Given the description of an element on the screen output the (x, y) to click on. 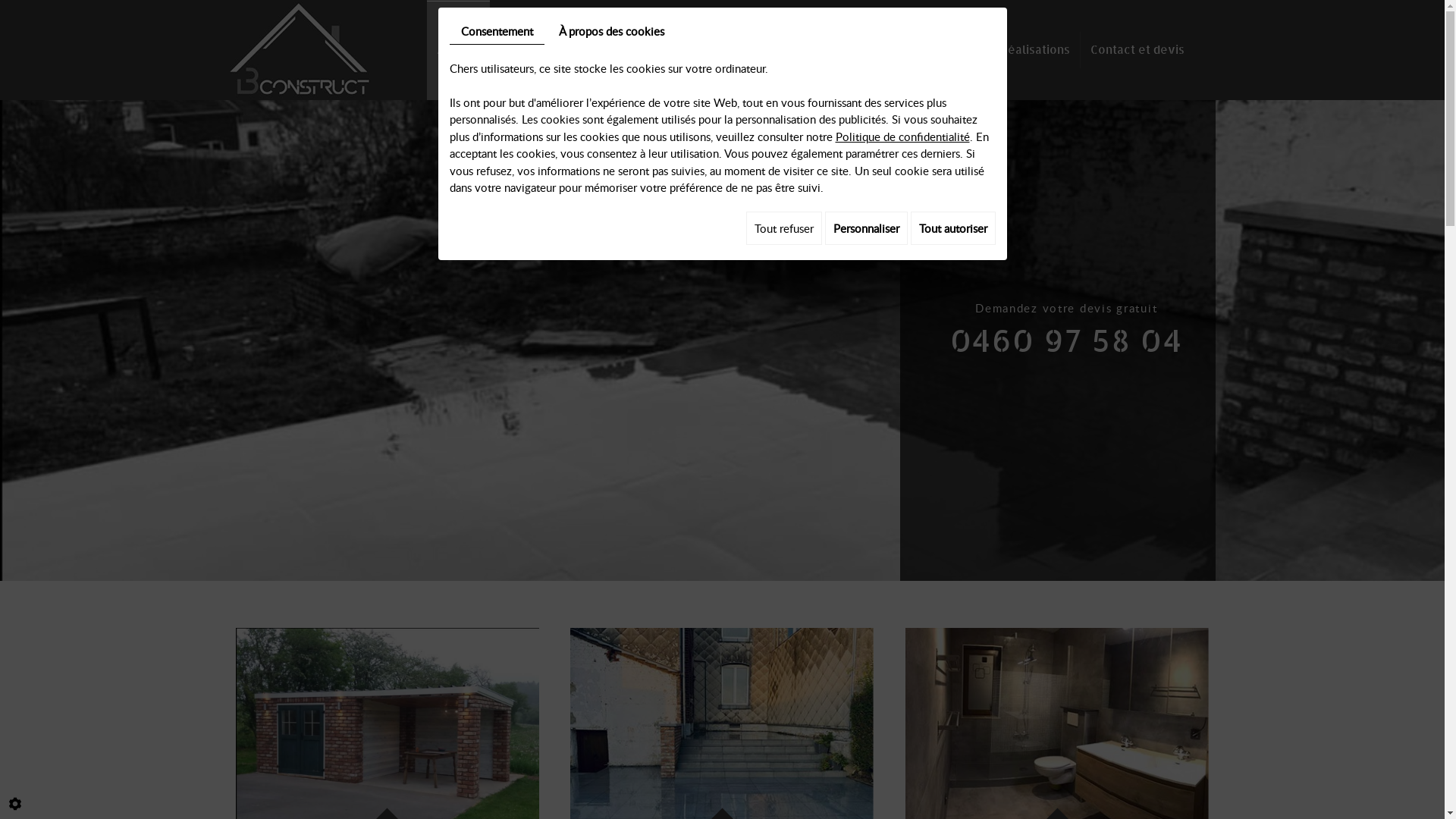
Personnaliser Element type: text (866, 227)
0460 97 58 04 Element type: text (1065, 340)
Tout refuser Element type: text (784, 227)
Contact et devis Element type: text (1136, 50)
Tout autoriser Element type: text (952, 227)
Construction Element type: text (536, 50)
Consentement Element type: text (495, 31)
Accueil Element type: text (457, 50)
